Given the description of an element on the screen output the (x, y) to click on. 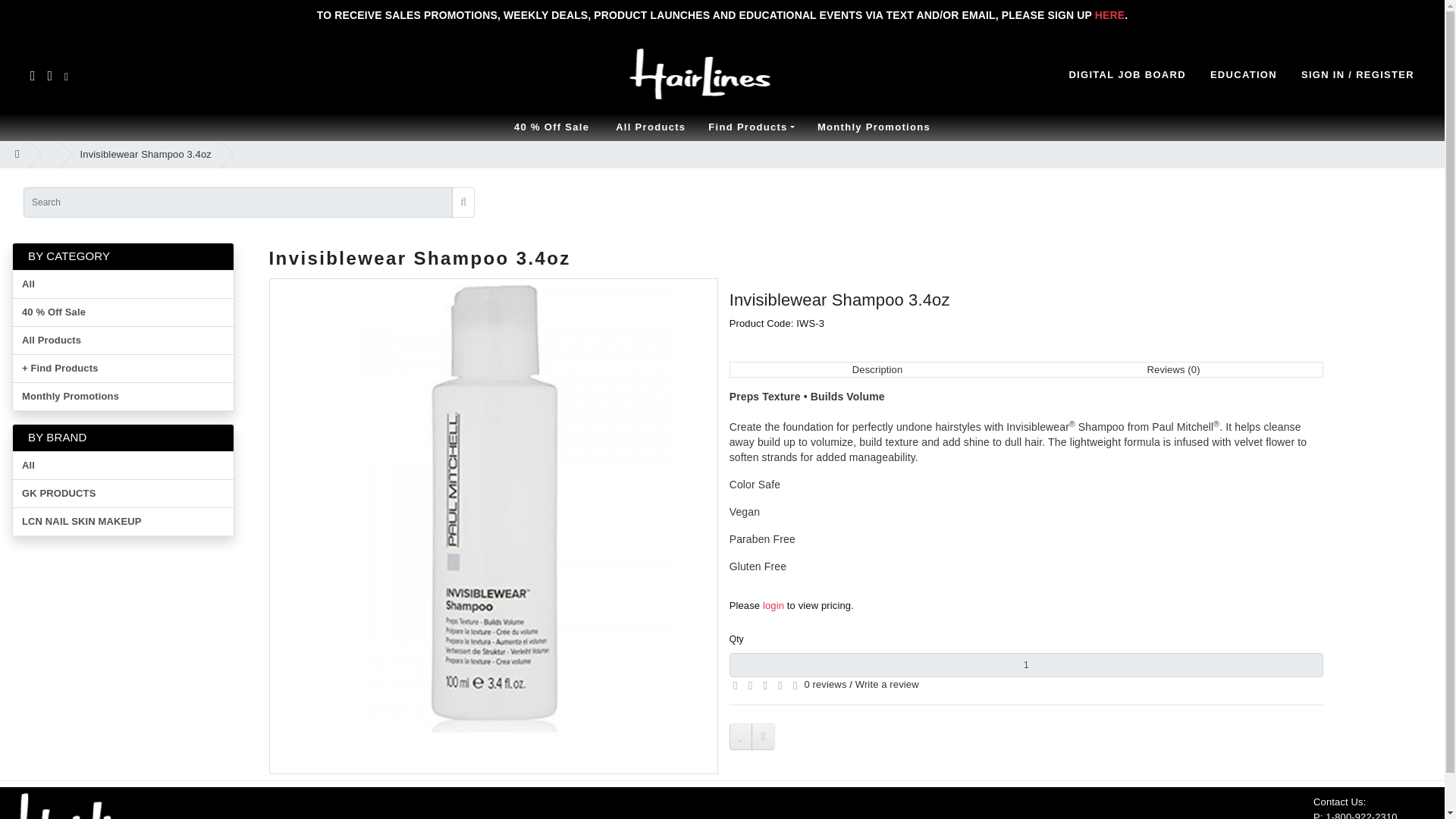
EDUCATION (1243, 74)
HERE (1109, 15)
Find Products (751, 127)
DIGITAL JOB BOARD (1127, 74)
1 (1026, 664)
All Products (650, 127)
